Given the description of an element on the screen output the (x, y) to click on. 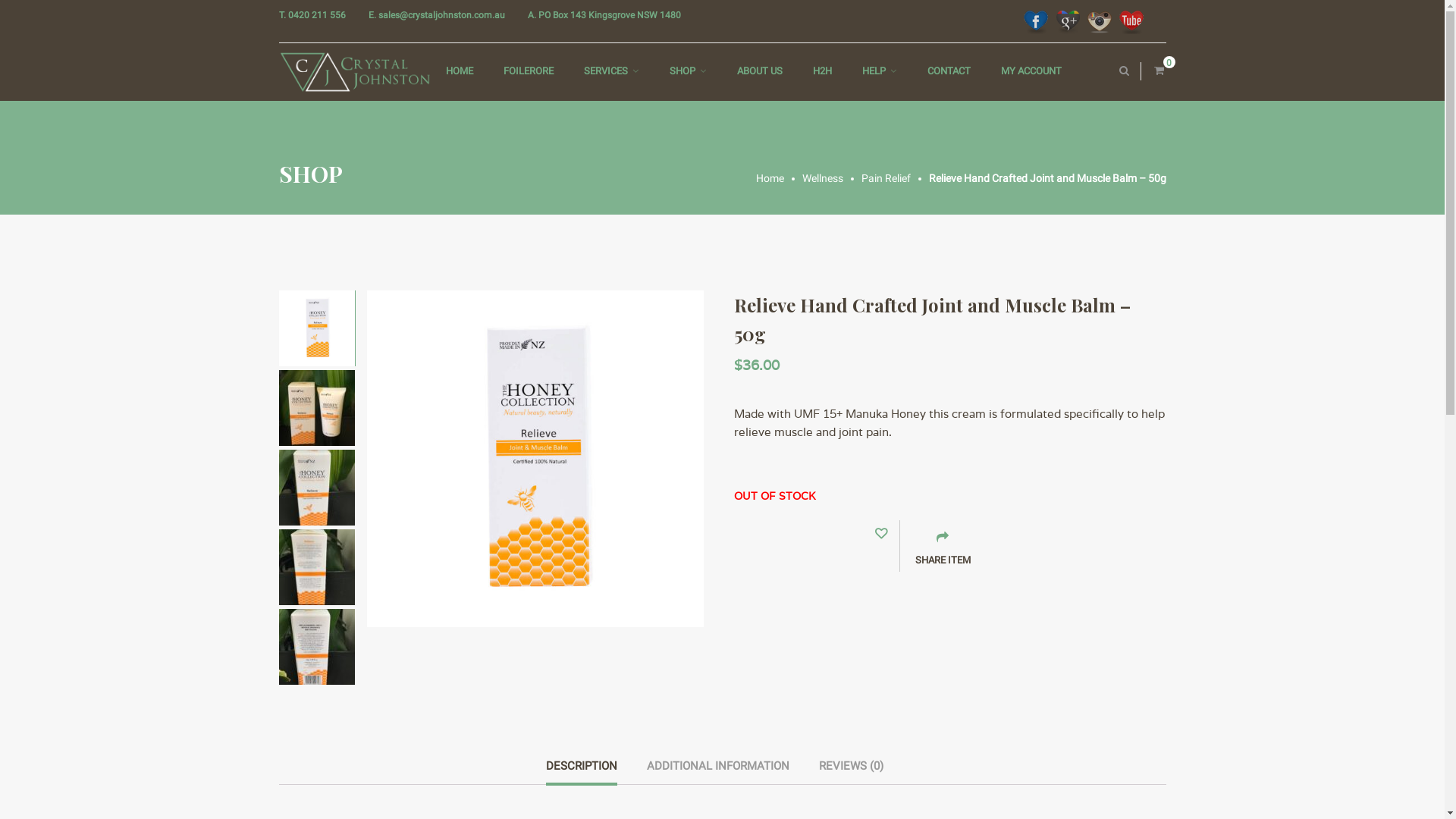
0420 211 556 Element type: text (316, 14)
Follow Us on YouTube Element type: hover (1131, 21)
H2H Element type: text (822, 71)
Wellness Element type: text (831, 178)
SHOP Element type: text (681, 71)
REVIEWS (0) Element type: text (851, 769)
Pain Relief Element type: text (894, 178)
HOME Element type: text (459, 71)
DESCRIPTION Element type: text (581, 770)
ADDITIONAL INFORMATION Element type: text (717, 769)
Follow Us on Google+ Element type: hover (1067, 21)
HELP Element type: text (873, 71)
sales@crystaljohnston.com.au Element type: text (440, 14)
ABOUT US Element type: text (759, 71)
Crystal Johnston - Slave to Hair Free to Care Element type: hover (354, 71)
SERVICES Element type: text (605, 71)
Follow Us on Instagram Element type: hover (1099, 21)
CONTACT Element type: text (948, 71)
MY ACCOUNT Element type: text (1030, 71)
FOILERORE Element type: text (528, 71)
Follow Us on Facebook Element type: hover (1035, 21)
Home Element type: text (778, 178)
